Given the description of an element on the screen output the (x, y) to click on. 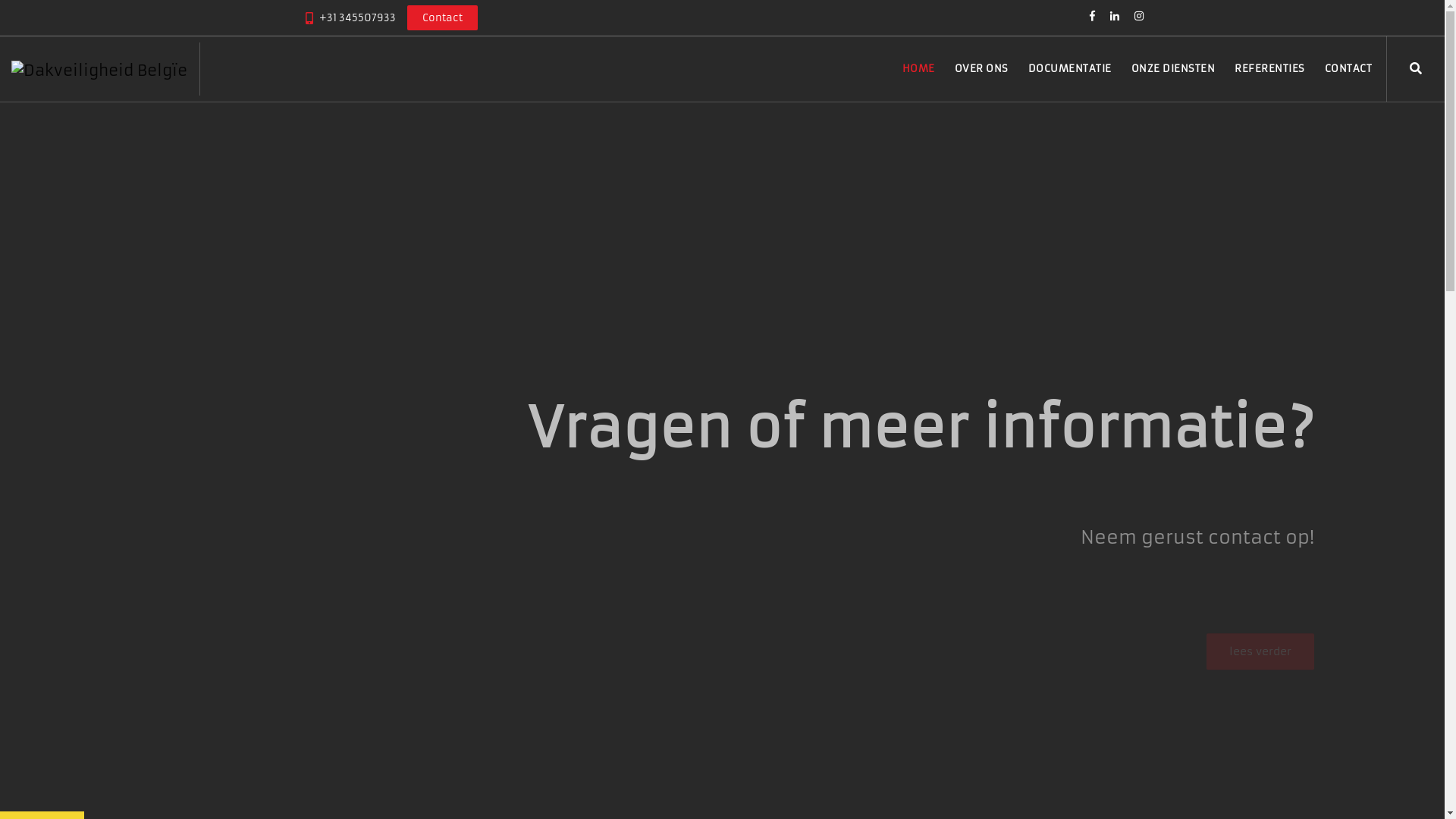
Contact Element type: text (441, 17)
+31 345507933 Element type: text (356, 17)
lees verder Element type: text (184, 553)
HOME Element type: text (918, 68)
DOCUMENTATIE Element type: text (1069, 68)
OVER ONS Element type: text (980, 68)
ONZE DIENSTEN Element type: text (1173, 68)
REFERENTIES Element type: text (1269, 68)
CONTACT Element type: text (1347, 68)
